Given the description of an element on the screen output the (x, y) to click on. 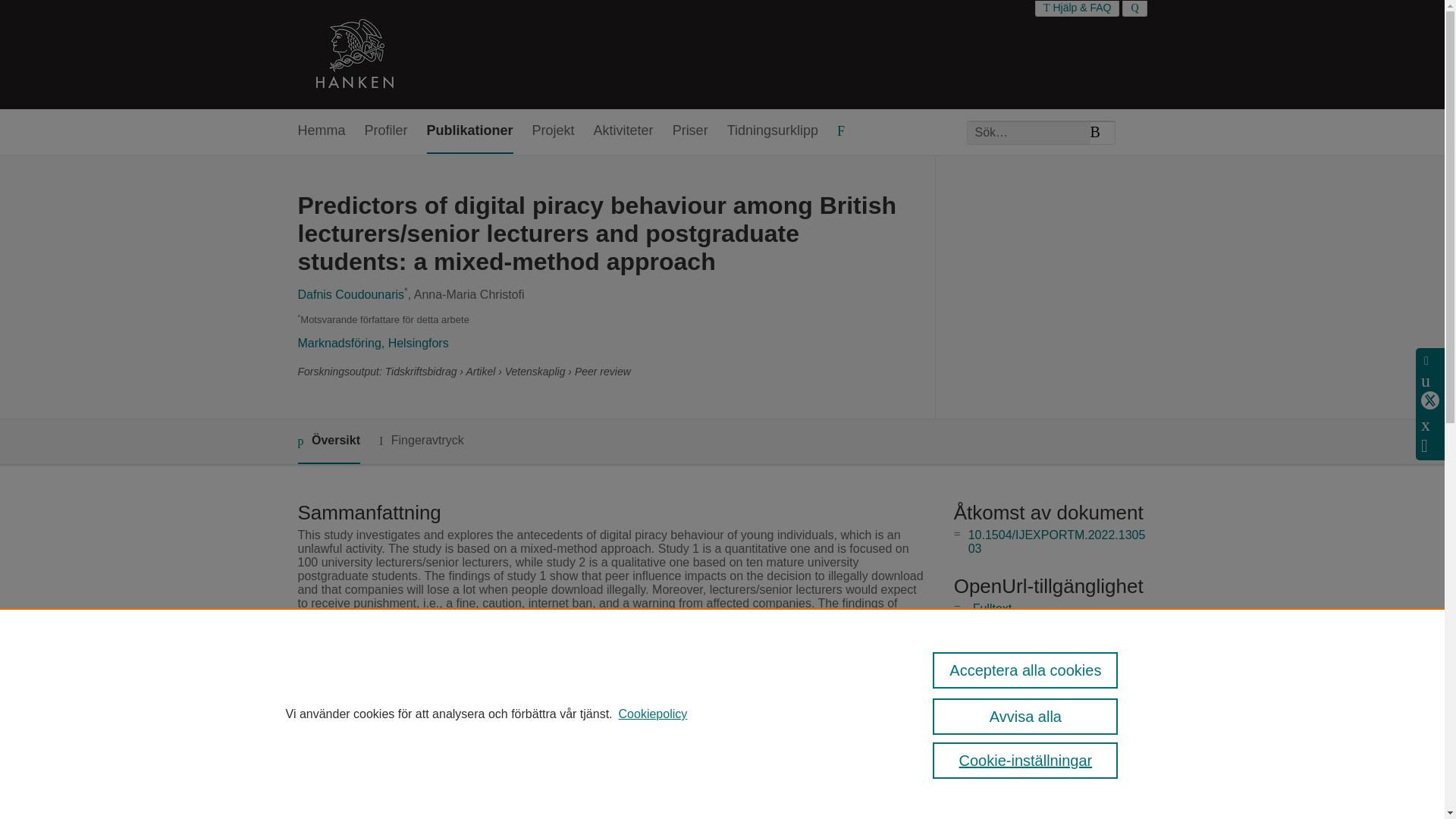
Haris - Hankens forskningsportal Hemma (353, 54)
Profiler (386, 130)
Dafnis Coudounaris (350, 294)
Tidningsurklipp (772, 130)
Hemma (321, 130)
Projekt (553, 130)
Fulltext (991, 608)
International Journal of Export Marketing (616, 699)
Fingeravtryck (421, 440)
Publikationer (469, 130)
Aktiviteter (623, 130)
